Given the description of an element on the screen output the (x, y) to click on. 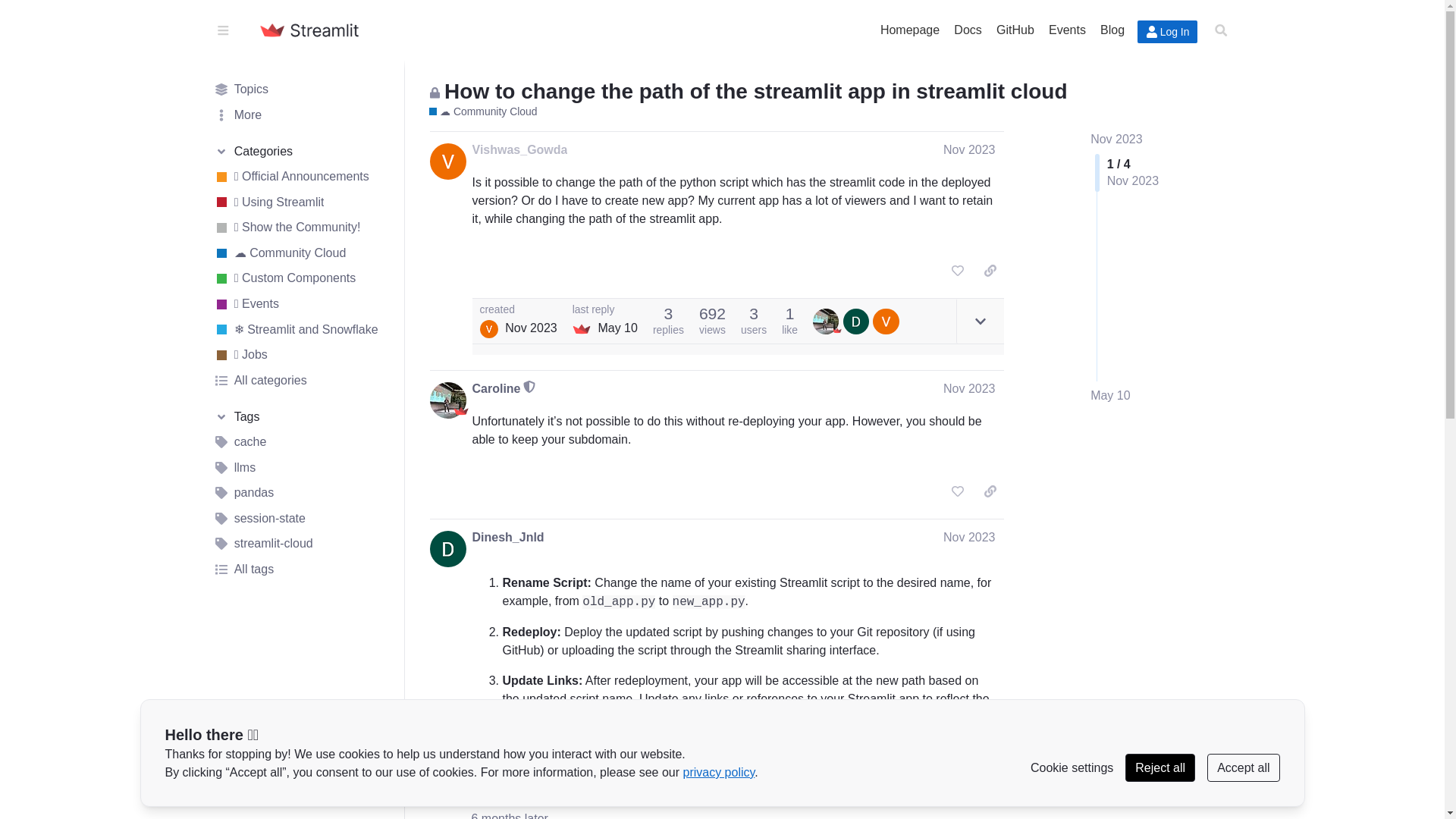
Streamlit Project Repo (1014, 29)
More (301, 114)
GitHub (1014, 29)
All categories (301, 380)
Events (1067, 29)
Blog (1112, 29)
session-state (301, 518)
Categories (301, 151)
Tags (301, 416)
May 10 (1109, 395)
Log In (1167, 31)
cache (301, 442)
Nov 2023 (969, 149)
